Given the description of an element on the screen output the (x, y) to click on. 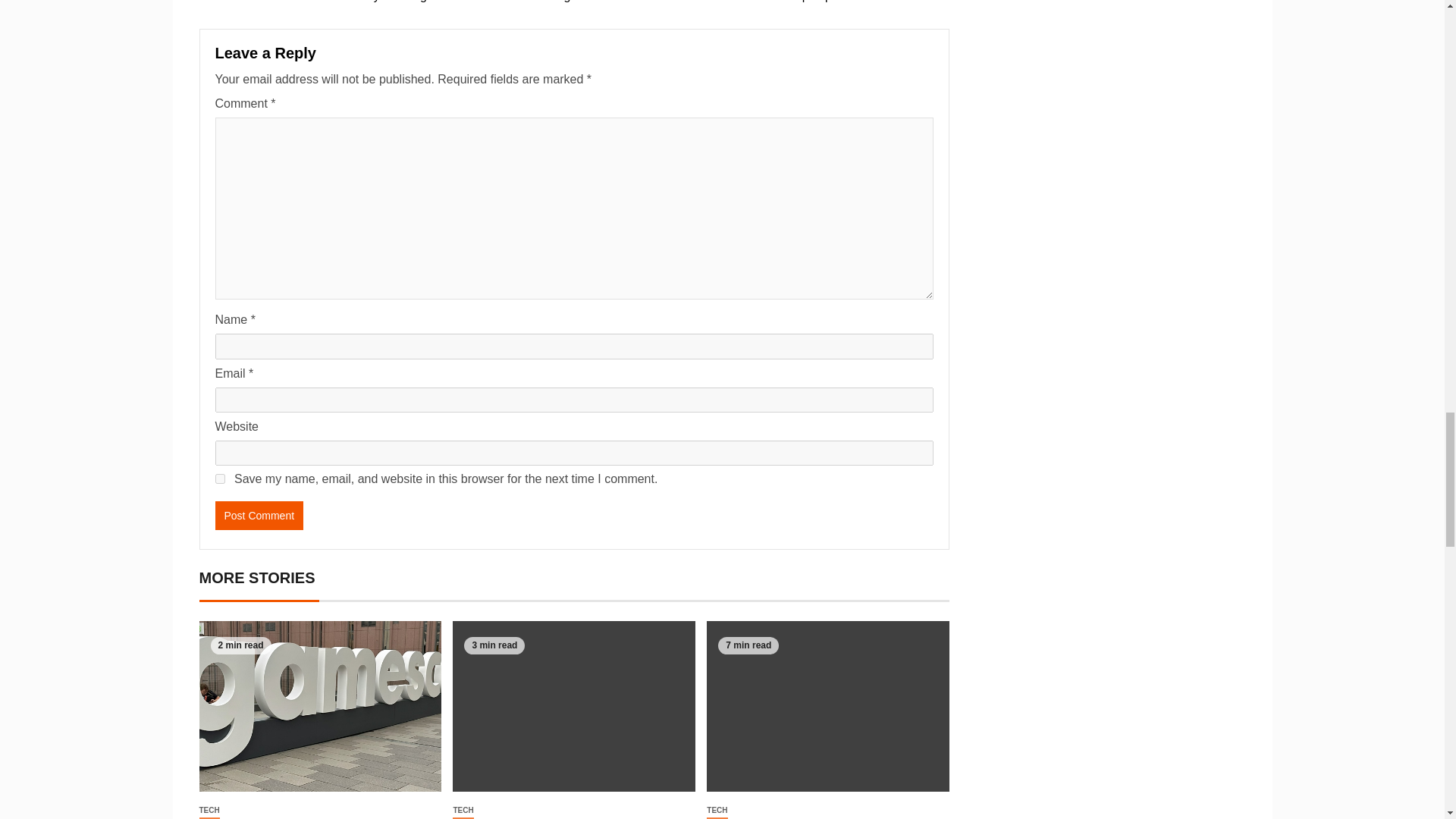
yes (220, 479)
Post Comment (259, 515)
